Given the description of an element on the screen output the (x, y) to click on. 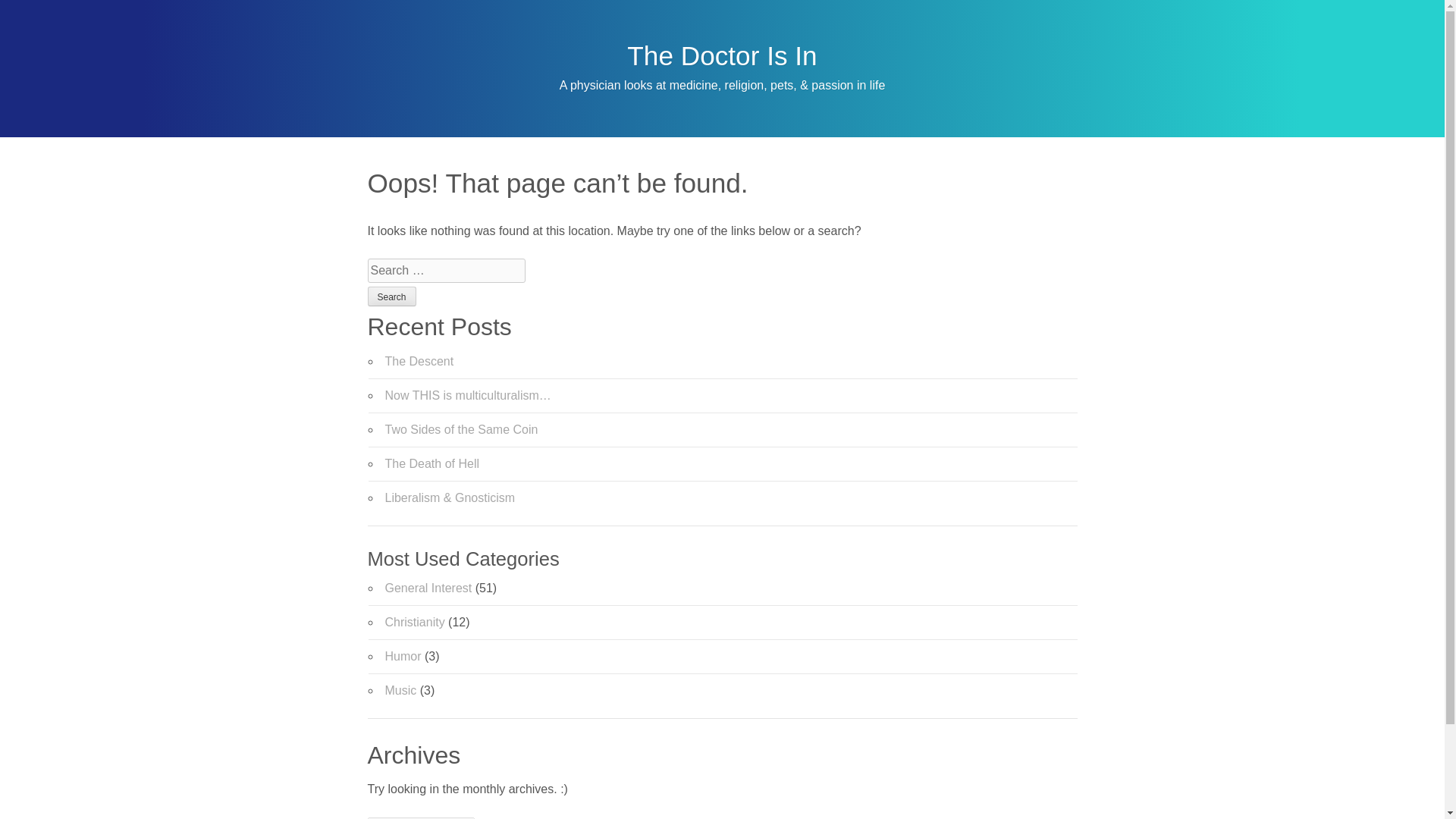
Search (390, 296)
The Doctor Is In (721, 55)
Music (400, 689)
General Interest (428, 587)
Search (390, 296)
Search (390, 296)
Humor (403, 656)
The Descent (419, 360)
The Death of Hell (432, 463)
Two Sides of the Same Coin (461, 429)
Christianity (415, 621)
